Given the description of an element on the screen output the (x, y) to click on. 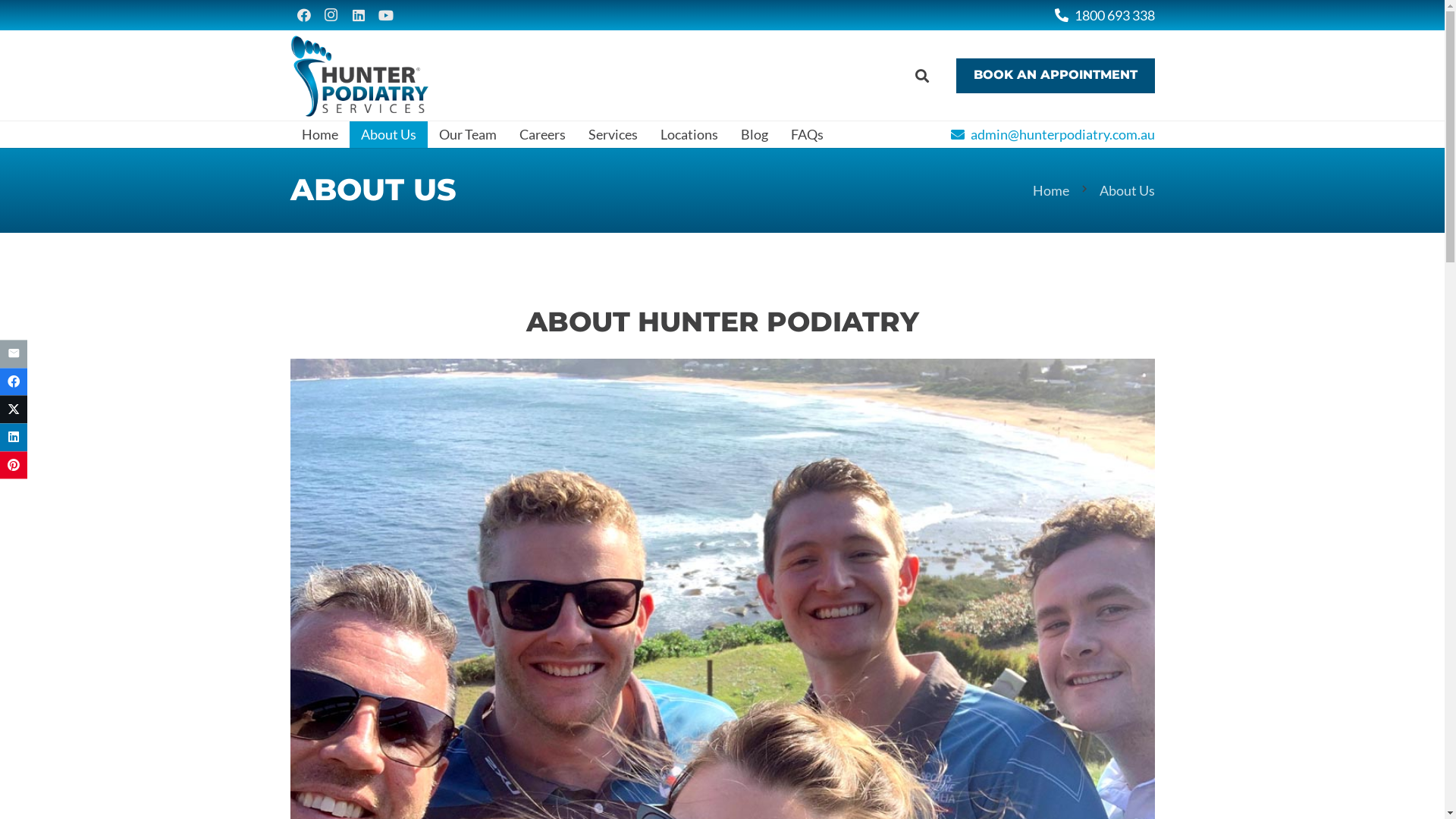
Home Element type: text (1050, 190)
Home Element type: text (318, 134)
Share this Element type: hover (13, 381)
1800 693 338 Element type: text (1104, 14)
Email this Element type: hover (13, 353)
YouTube Element type: hover (384, 14)
About Us Element type: text (1126, 190)
FAQs Element type: text (806, 134)
About Us Element type: text (387, 134)
Tweet this Element type: hover (13, 409)
Our Team Element type: text (467, 134)
Share this Element type: hover (13, 437)
Locations Element type: text (689, 134)
admin@hunterpodiatry.com.au Element type: text (1052, 133)
Careers Element type: text (542, 134)
Services Element type: text (612, 134)
Blog Element type: text (754, 134)
LinkedIn Element type: hover (357, 14)
BOOK AN APPOINTMENT Element type: text (1055, 75)
Facebook Element type: hover (302, 14)
Instagram Element type: hover (330, 14)
Pin this Element type: hover (13, 465)
